Given the description of an element on the screen output the (x, y) to click on. 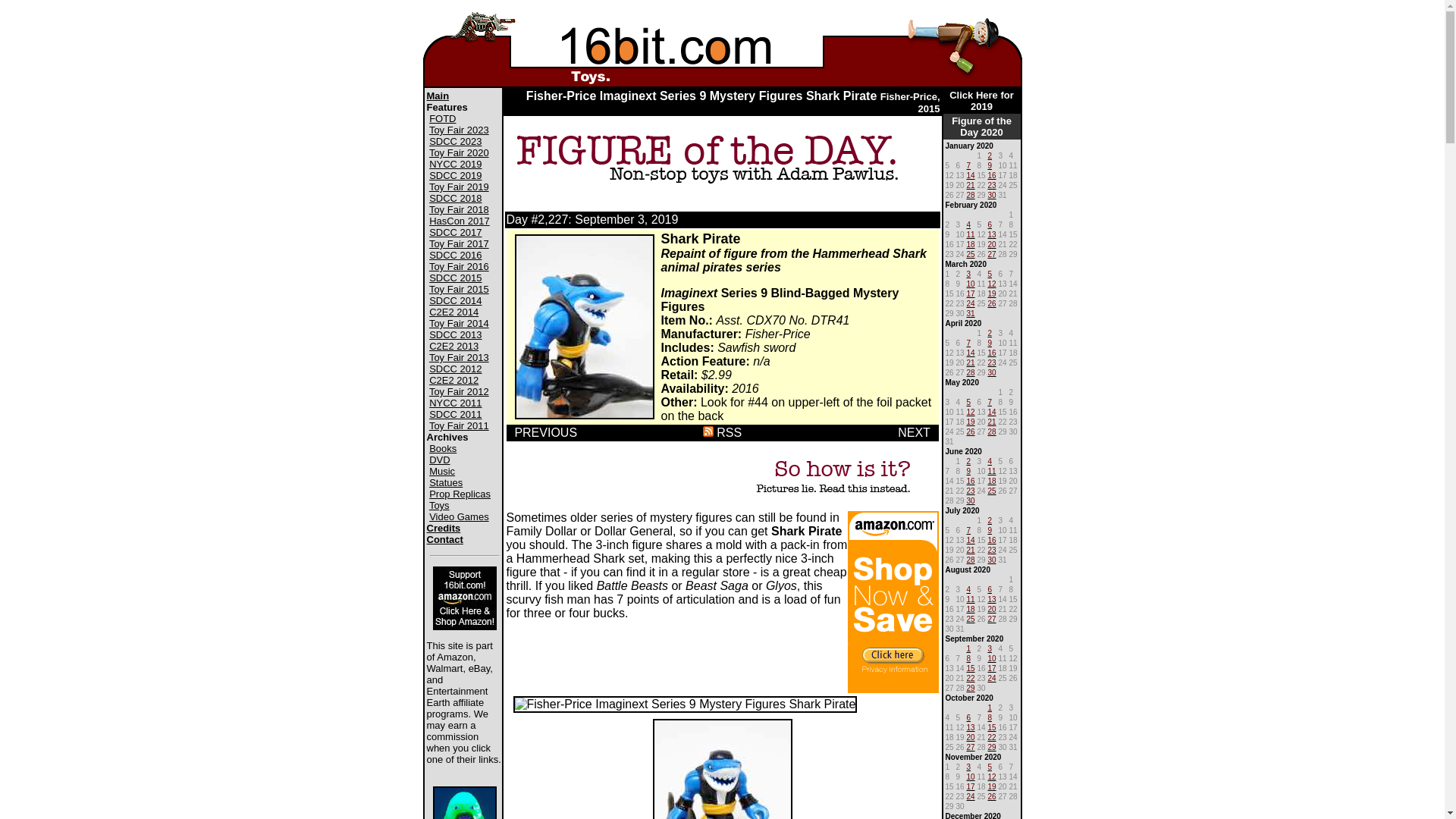
27 Element type: text (970, 745)
25 Element type: text (970, 252)
12 Element type: text (970, 410)
SDCC 2011 Element type: text (455, 414)
14 Element type: text (991, 410)
21 Element type: text (970, 360)
Credits Element type: text (443, 527)
7 Element type: text (968, 528)
20 Element type: text (991, 242)
29 Element type: text (970, 686)
SDCC 2019 Element type: text (455, 175)
10 Element type: text (991, 656)
11 Element type: text (970, 597)
Toy Fair 2018 Element type: text (459, 209)
4 Element type: text (989, 459)
RSS Element type: text (721, 432)
3 Element type: text (989, 646)
SDCC 2023 Element type: text (455, 141)
27 Element type: text (991, 617)
17 Element type: text (970, 784)
18 Element type: text (970, 242)
13 Element type: text (970, 725)
23 Element type: text (991, 548)
22 Element type: text (970, 676)
30 Element type: text (991, 370)
Main Element type: text (437, 95)
28 Element type: text (991, 429)
DVD Element type: text (439, 459)
23 Element type: text (991, 360)
14 Element type: text (970, 351)
Toy Fair 2015 Element type: text (459, 288)
6 Element type: text (989, 222)
HasCon 2017 Element type: text (459, 220)
27 Element type: text (991, 252)
21 Element type: text (970, 548)
17 Element type: text (970, 291)
3 Element type: text (968, 272)
16 Element type: text (991, 173)
SDCC 2015 Element type: text (455, 277)
5 Element type: text (989, 272)
16 Element type: text (991, 351)
Video Games Element type: text (459, 516)
5 Element type: text (989, 765)
PREVIOUS Element type: text (545, 432)
Toy Fair 2019 Element type: text (459, 186)
1 Element type: text (968, 646)
25 Element type: text (991, 489)
Prop Replicas Element type: text (459, 493)
7 Element type: text (989, 400)
31 Element type: text (970, 311)
3 Element type: text (968, 765)
FOTD Element type: text (442, 118)
Toy Fair 2014 Element type: text (459, 323)
24 Element type: text (991, 676)
Toy Fair 2011 Element type: text (459, 425)
12 Element type: text (991, 774)
Toy Fair 2012 Element type: text (459, 391)
C2E2 2014 Element type: text (453, 311)
16 Element type: text (970, 479)
2 Element type: text (989, 331)
19 Element type: text (970, 420)
11 Element type: text (970, 232)
Toy Fair 2016 Element type: text (459, 266)
18 Element type: text (991, 479)
Contact Element type: text (444, 539)
5 Element type: text (968, 400)
7 Element type: text (968, 341)
4 Element type: text (968, 222)
28 Element type: text (970, 558)
28 Element type: text (970, 370)
16 Element type: text (991, 538)
13 Element type: text (991, 232)
6 Element type: text (968, 715)
17 Element type: text (991, 666)
14 Element type: text (970, 173)
30 Element type: text (991, 558)
6 Element type: text (989, 587)
26 Element type: text (991, 301)
SDCC 2012 Element type: text (455, 368)
9 Element type: text (989, 341)
C2E2 2012 Element type: text (453, 379)
NYCC 2019 Element type: text (455, 163)
22 Element type: text (991, 735)
28 Element type: text (970, 193)
8 Element type: text (989, 715)
9 Element type: text (968, 469)
C2E2 2013 Element type: text (453, 345)
13 Element type: text (991, 597)
30 Element type: text (970, 498)
26 Element type: text (970, 429)
19 Element type: text (991, 291)
11 Element type: text (991, 469)
15 Element type: text (991, 725)
Music Element type: text (442, 470)
9 Element type: text (989, 528)
2 Element type: text (968, 459)
2 Element type: text (989, 153)
SDCC 2014 Element type: text (455, 300)
NEXT   Element type: text (916, 432)
SDCC 2017 Element type: text (455, 232)
30 Element type: text (991, 193)
23 Element type: text (970, 489)
20 Element type: text (970, 735)
26 Element type: text (991, 794)
Click Here for 2019 Element type: text (981, 100)
29 Element type: text (991, 745)
10 Element type: text (970, 774)
Statues Element type: text (445, 482)
2 Element type: text (989, 518)
23 Element type: text (991, 183)
1 Element type: text (989, 705)
12 Element type: text (991, 282)
21 Element type: text (991, 420)
24 Element type: text (970, 794)
Books Element type: text (442, 448)
NYCC 2011 Element type: text (455, 402)
SDCC 2018 Element type: text (455, 197)
8 Element type: text (968, 656)
10 Element type: text (970, 282)
21 Element type: text (970, 183)
19 Element type: text (991, 784)
14 Element type: text (970, 538)
Toys Element type: text (439, 505)
24 Element type: text (970, 301)
SDCC 2013 Element type: text (455, 334)
SDCC 2016 Element type: text (455, 254)
18 Element type: text (970, 607)
Toy Fair 2017 Element type: text (459, 243)
7 Element type: text (968, 163)
Toy Fair 2020 Element type: text (459, 152)
9 Element type: text (989, 163)
20 Element type: text (991, 607)
25 Element type: text (970, 617)
Toy Fair 2023 Element type: text (459, 129)
4 Element type: text (968, 587)
Toy Fair 2013 Element type: text (459, 357)
15 Element type: text (970, 666)
